Given the description of an element on the screen output the (x, y) to click on. 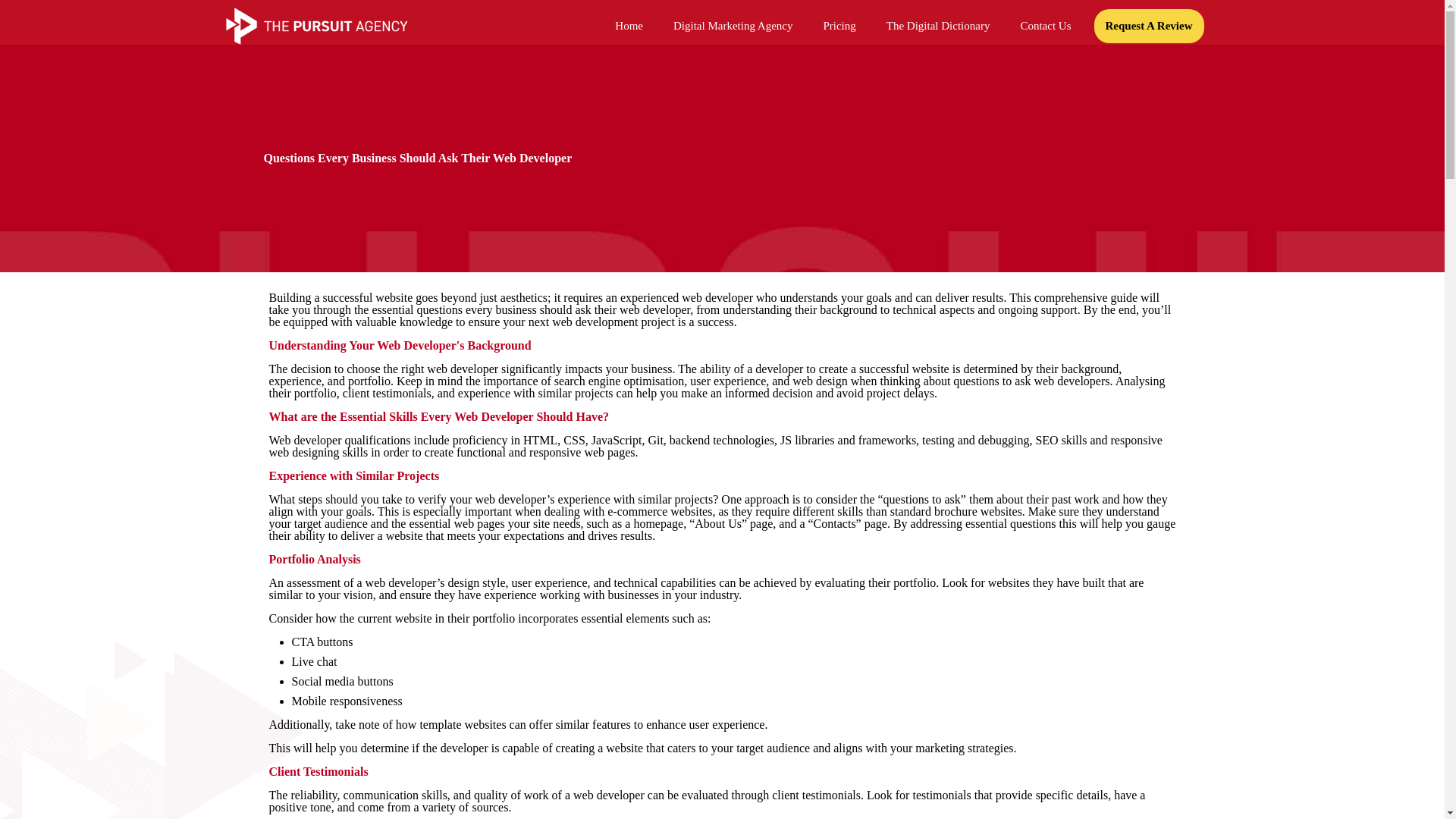
The Digital Dictionary (938, 25)
Home (628, 25)
Contact Us (1045, 25)
Request A Review (1149, 26)
Pricing (839, 25)
Digital Marketing Agency (733, 25)
